Given the description of an element on the screen output the (x, y) to click on. 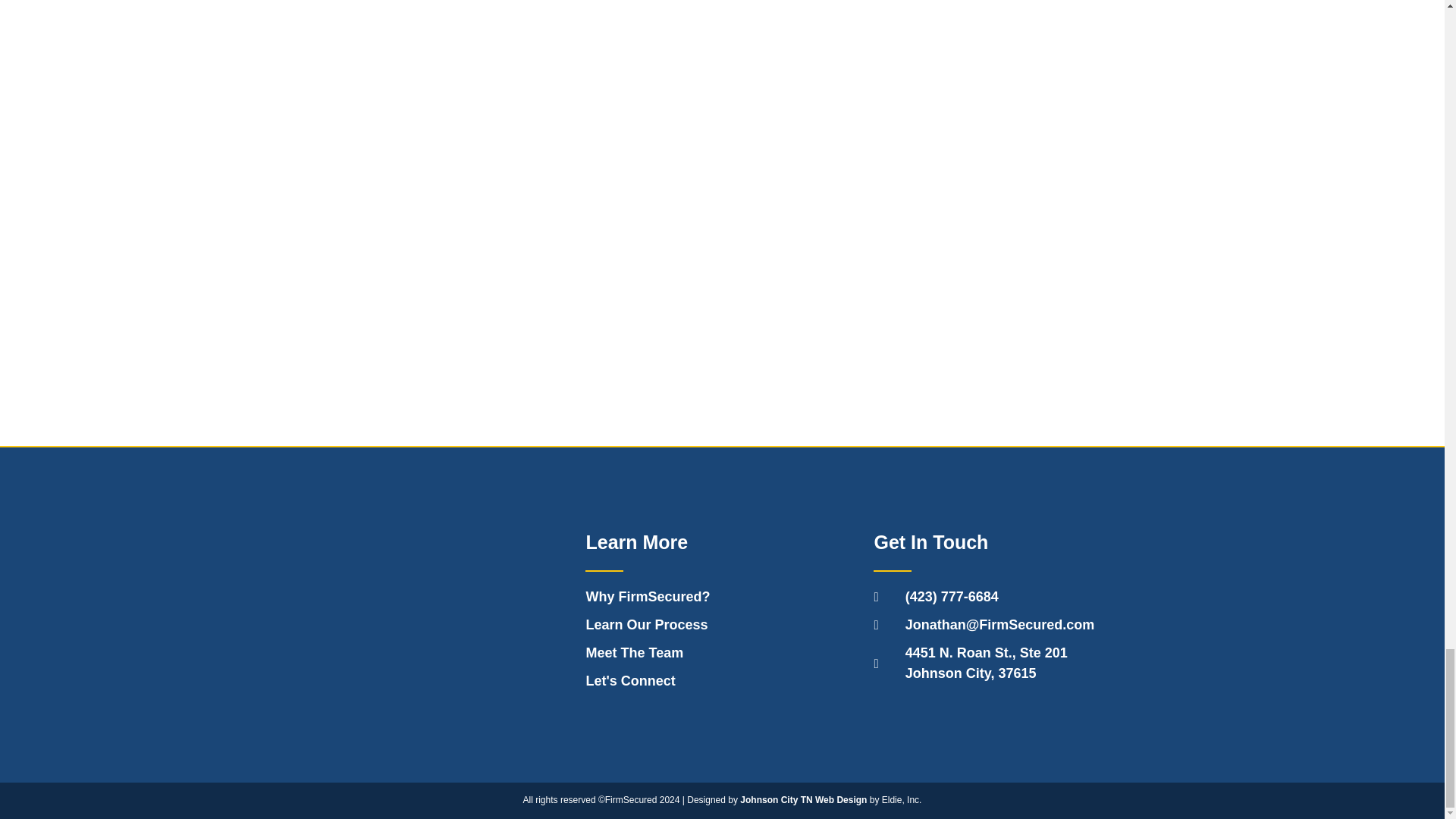
Meet The Team (722, 652)
Learn Our Process (1010, 662)
Let's Connect (722, 625)
Why FirmSecured? (722, 680)
Johnson City TN Web Design (722, 597)
